Given the description of an element on the screen output the (x, y) to click on. 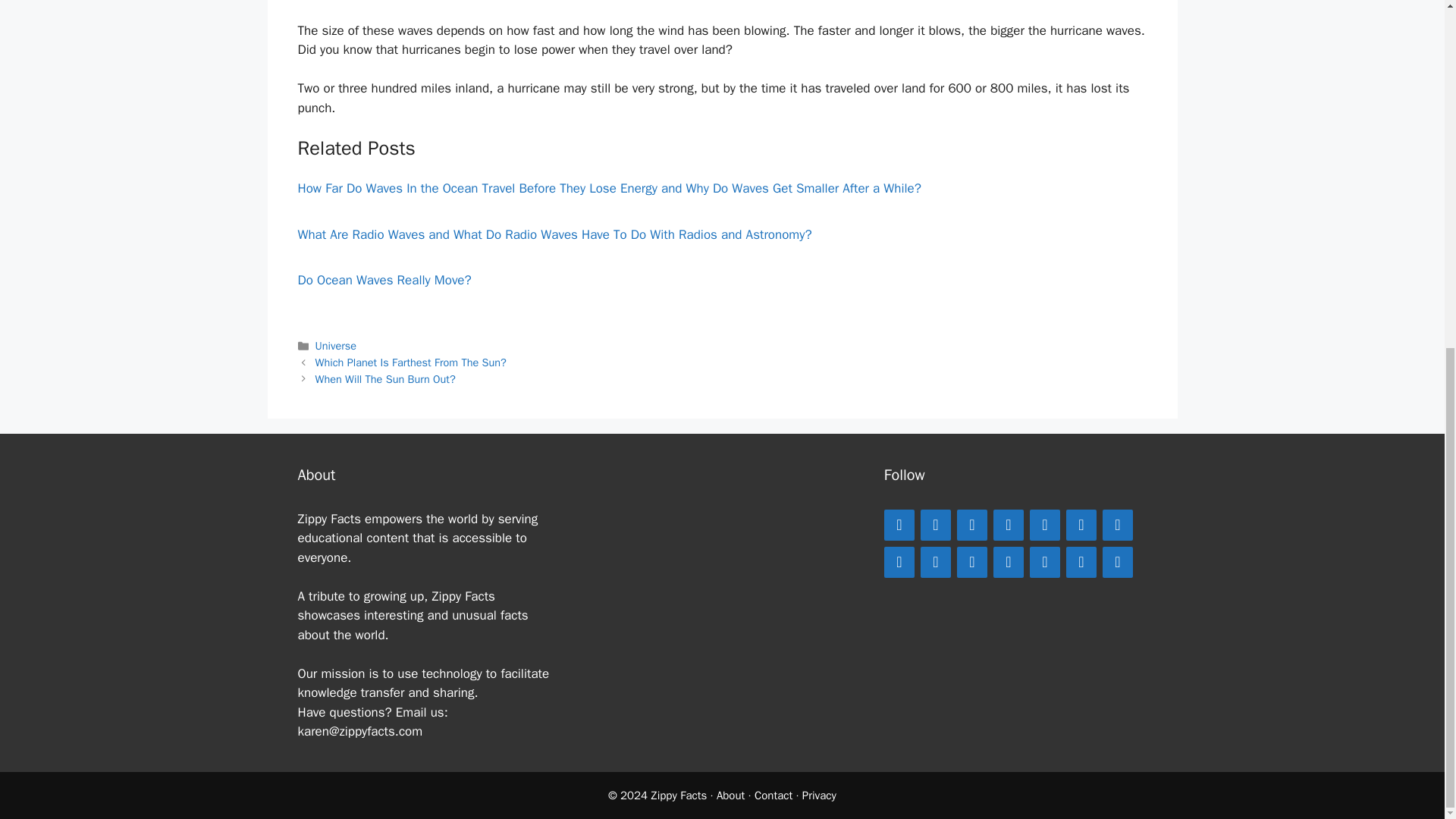
Flickr (1080, 561)
Instagram (935, 524)
When Will The Sun Burn Out? (385, 378)
WordPress (898, 561)
Github (1044, 561)
Do Ocean Waves Really Move? (383, 279)
Facebook (898, 524)
Yahoo (1117, 561)
Reddit (1117, 524)
Which Planet Is Farthest From The Sun? (410, 362)
Tumblr (971, 561)
Universe (335, 345)
